Given the description of an element on the screen output the (x, y) to click on. 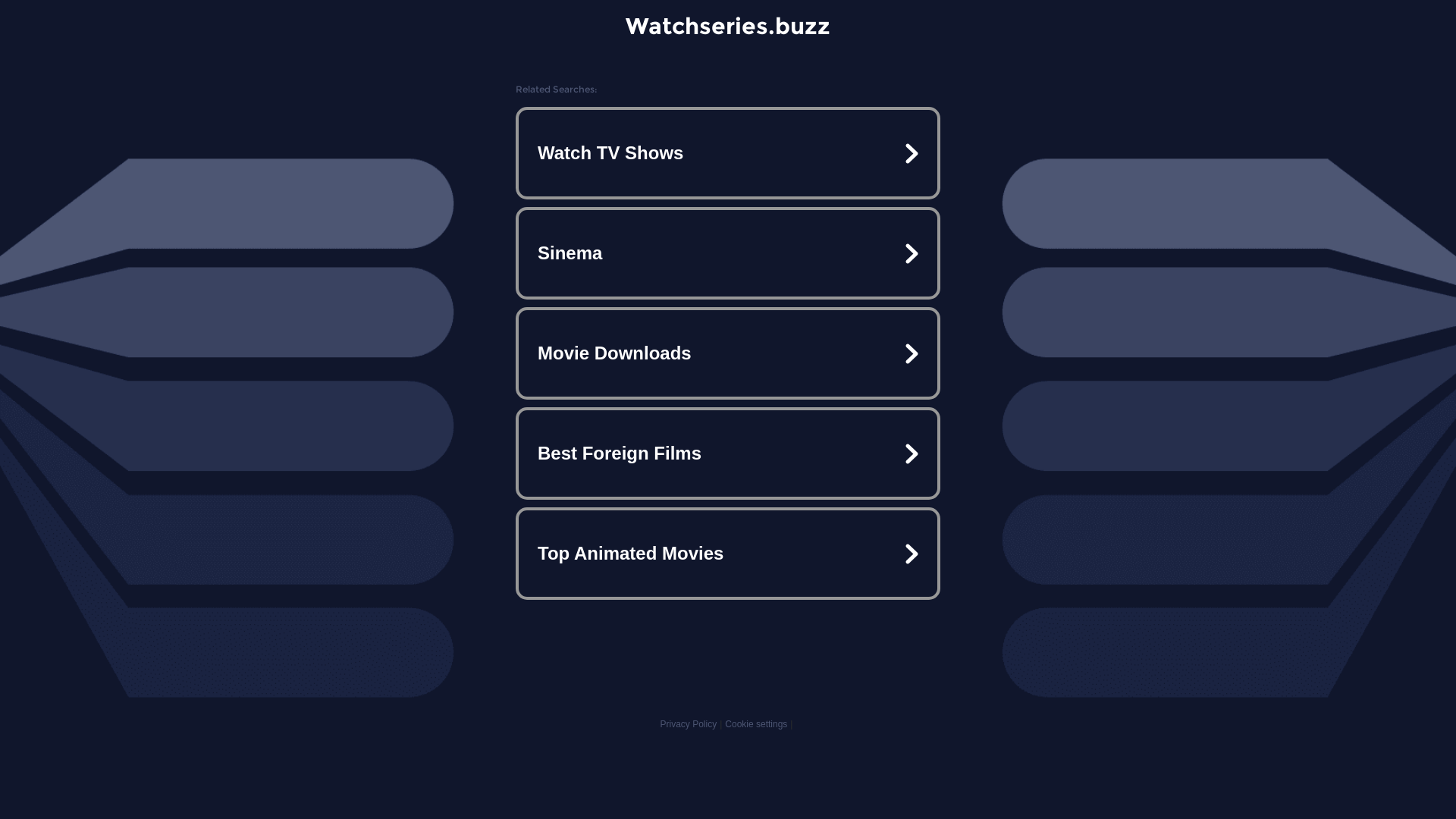
Privacy Policy Element type: text (687, 723)
Watch TV Shows Element type: text (727, 152)
Watchseries.buzz Element type: text (727, 26)
Best Foreign Films Element type: text (727, 453)
Top Animated Movies Element type: text (727, 553)
Cookie settings Element type: text (755, 723)
Movie Downloads Element type: text (727, 353)
Sinema Element type: text (727, 253)
